Given the description of an element on the screen output the (x, y) to click on. 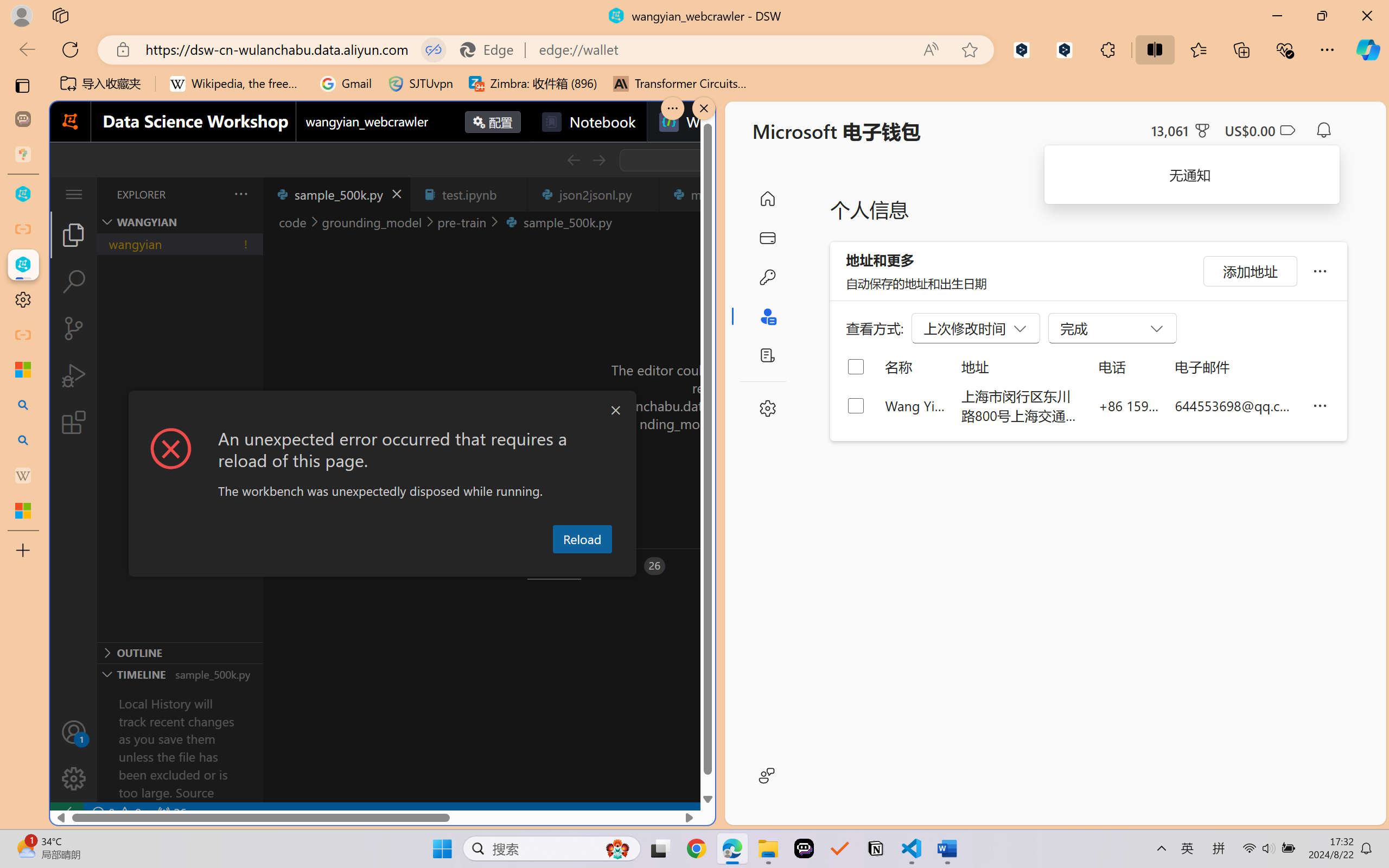
main.py (717, 194)
Explorer actions (212, 194)
Transformer Circuits Thread (680, 83)
Timeline Section (179, 673)
Outline Section (179, 652)
Explorer Section: wangyian (179, 221)
